Given the description of an element on the screen output the (x, y) to click on. 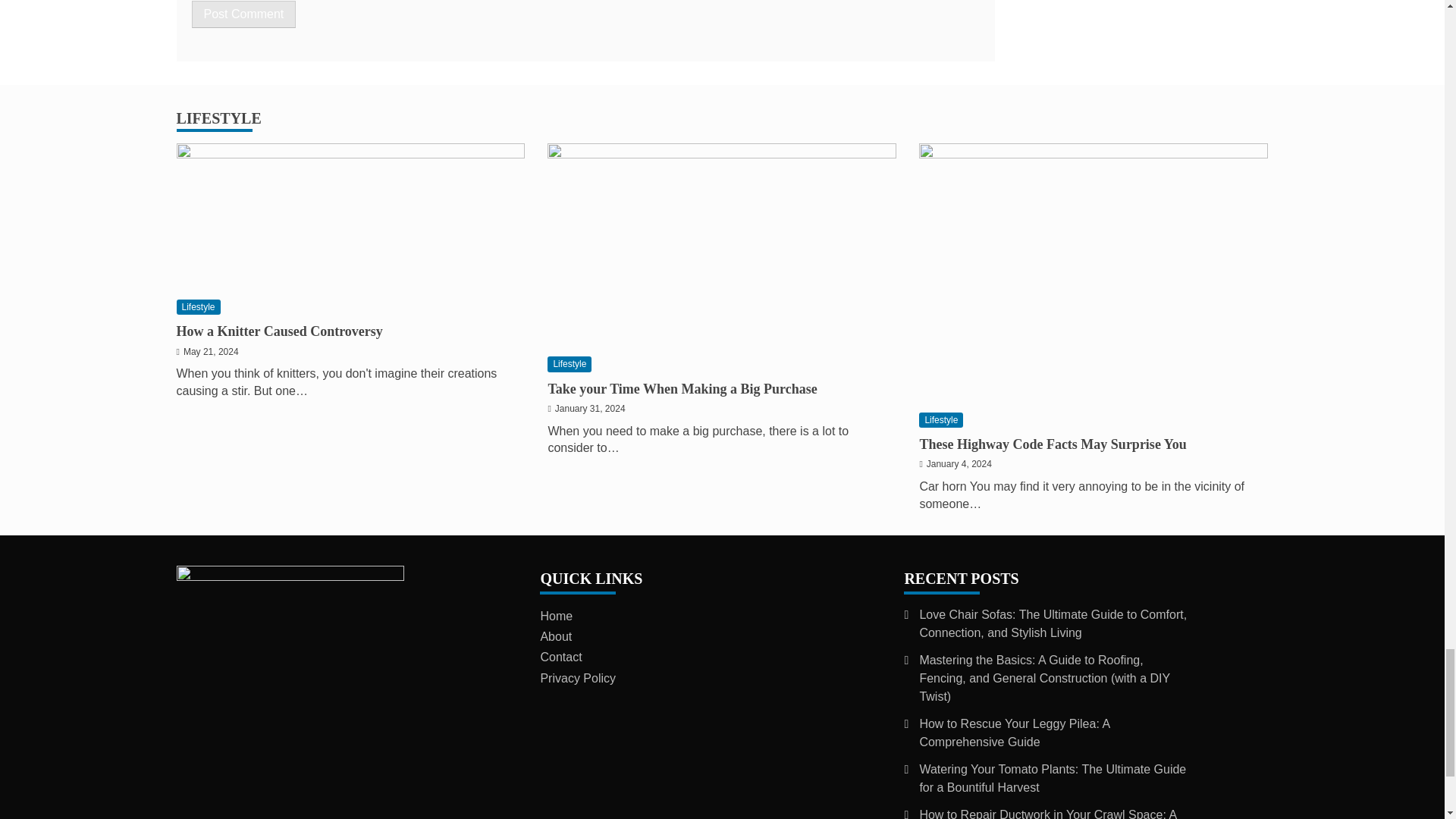
Post Comment (242, 13)
